Given the description of an element on the screen output the (x, y) to click on. 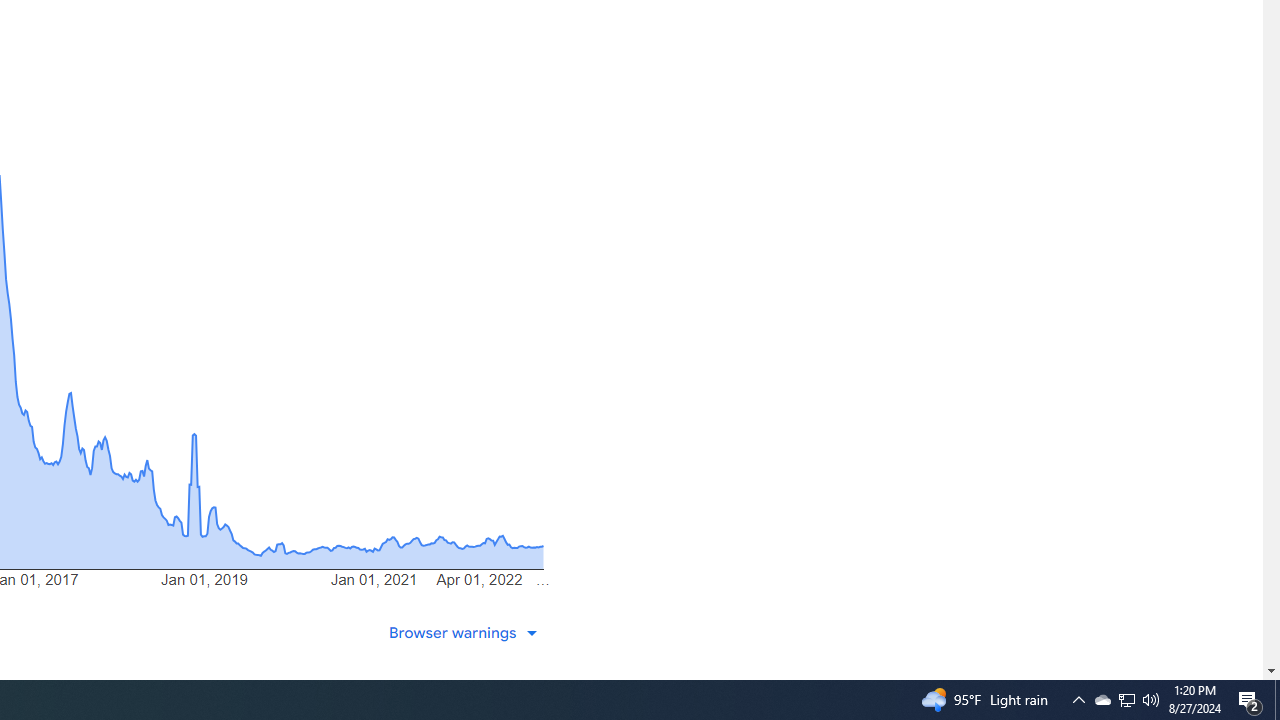
Browser warnings (466, 632)
